Given the description of an element on the screen output the (x, y) to click on. 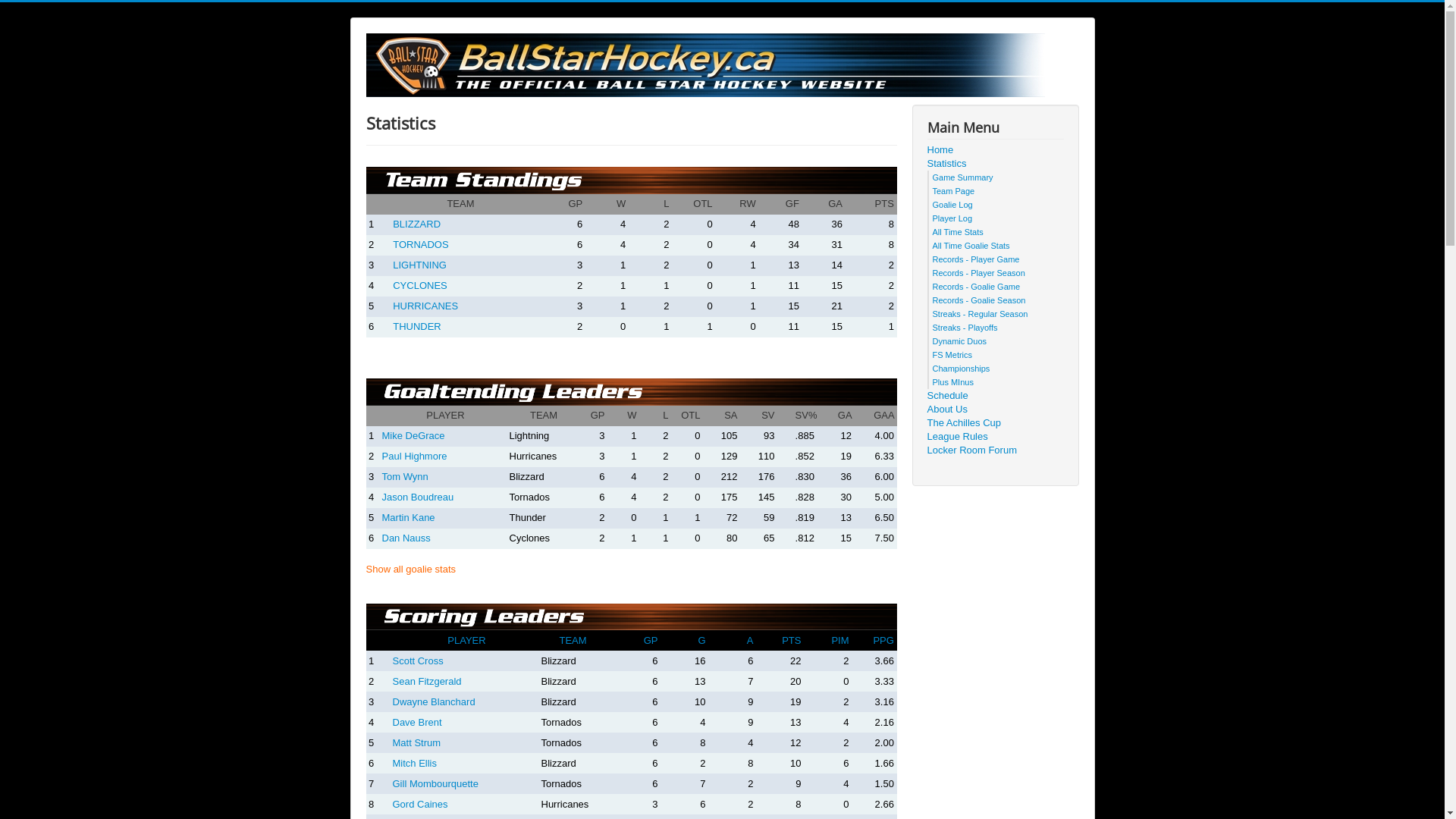
Gord Caines Element type: text (420, 803)
Matt Strum Element type: text (416, 742)
League Rules Element type: text (994, 436)
Sean Fitzgerald Element type: text (426, 681)
PPG  Element type: text (884, 640)
PTS Element type: text (790, 640)
Dave Brent Element type: text (417, 722)
Plus MInus Element type: text (952, 381)
Home Element type: text (994, 149)
GP Element type: text (650, 640)
Records - Goalie Season Element type: text (979, 299)
Goalie Log Element type: text (952, 204)
THUNDER Element type: text (416, 326)
Dynamic Duos Element type: text (959, 340)
Streaks - Regular Season Element type: text (980, 313)
Game Summary Element type: text (962, 177)
A Element type: text (749, 640)
The Achilles Cup Element type: text (994, 422)
Dwayne Blanchard Element type: text (433, 701)
Dan Nauss Element type: text (406, 537)
Records - Goalie Game Element type: text (976, 286)
Statistics Element type: text (994, 163)
Schedule Element type: text (994, 395)
TORNADOS Element type: text (420, 244)
Show all goalie stats Element type: text (410, 568)
Mitch Ellis Element type: text (414, 762)
Player Log Element type: text (952, 217)
Team Page Element type: text (953, 190)
BLIZZARD Element type: text (416, 223)
G Element type: text (701, 640)
Jason Boudreau Element type: text (418, 496)
TEAM Element type: text (572, 640)
HURRICANES Element type: text (425, 305)
All Time Stats Element type: text (957, 231)
CYCLONES Element type: text (419, 285)
Records - Player Game Element type: text (975, 258)
Streaks - Playoffs Element type: text (964, 327)
Scott Cross Element type: text (417, 660)
Paul Highmore Element type: text (414, 455)
PLAYER Element type: text (466, 640)
Tom Wynn Element type: text (405, 476)
All Time Goalie Stats Element type: text (971, 245)
LIGHTNING Element type: text (419, 264)
Locker Room Forum Element type: text (994, 450)
Mike DeGrace Element type: text (413, 435)
Gill Mombourquette Element type: text (435, 783)
About Us Element type: text (994, 409)
PIM Element type: text (839, 640)
Records - Player Season Element type: text (978, 272)
Martin Kane Element type: text (408, 517)
FS Metrics Element type: text (952, 354)
Championships Element type: text (961, 368)
